Given the description of an element on the screen output the (x, y) to click on. 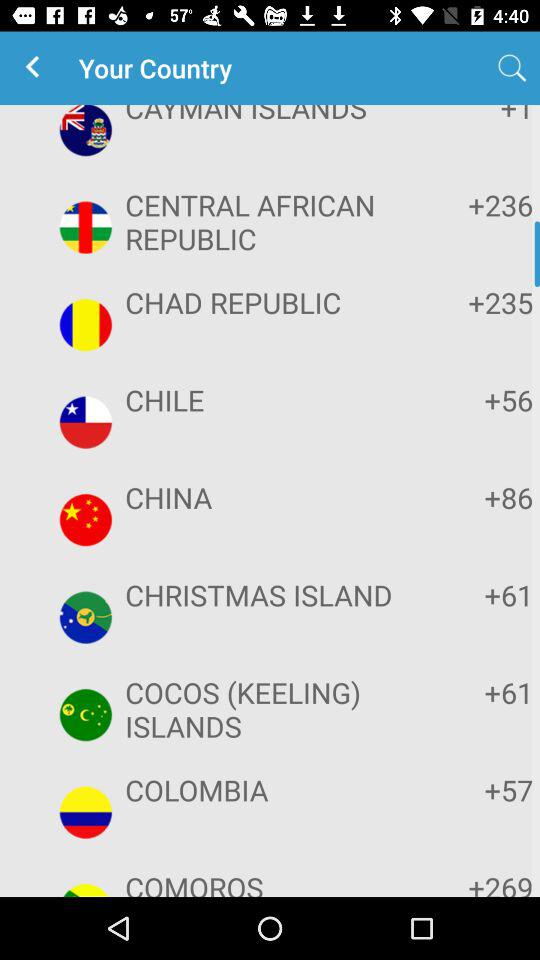
scroll until the +56 (471, 399)
